Given the description of an element on the screen output the (x, y) to click on. 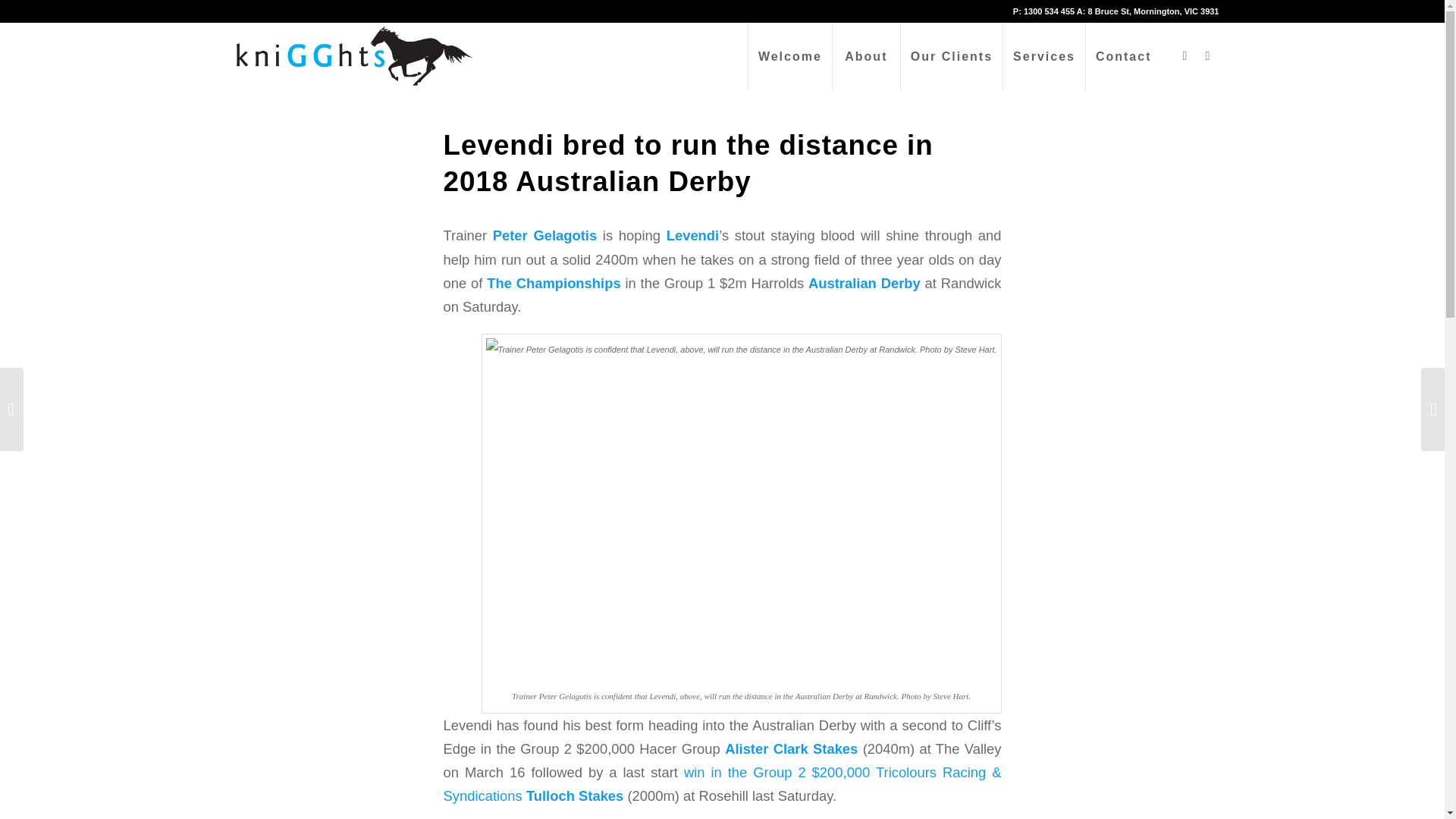
Welcome (789, 56)
Services (1043, 56)
Facebook (1184, 56)
Our Clients (951, 56)
Twitter (1208, 56)
Contact (1122, 56)
About (865, 56)
Levendi bred to run the distance in 2018 Australian Derby (687, 163)
